Given the description of an element on the screen output the (x, y) to click on. 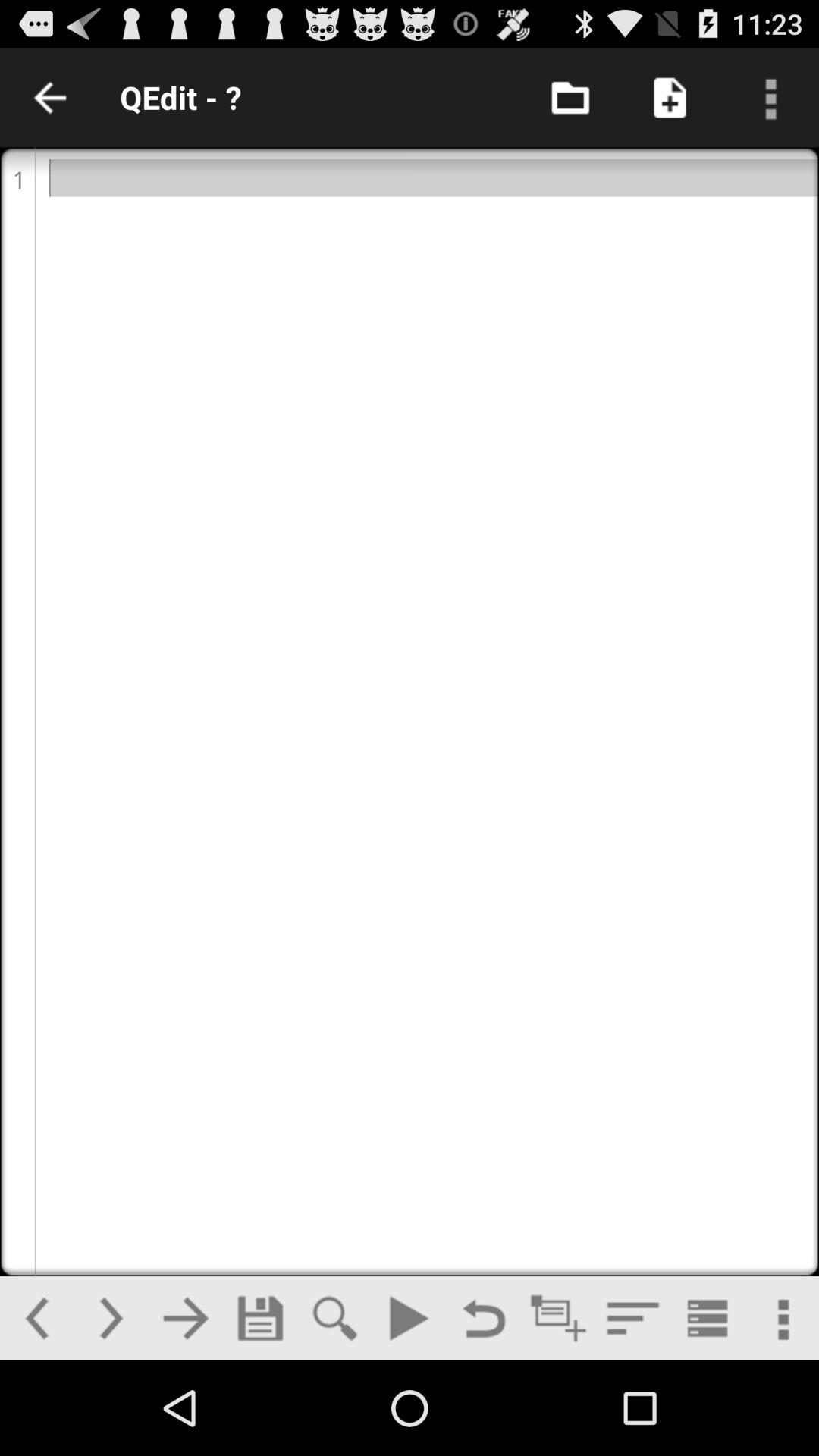
to search the tool bar (334, 1318)
